Given the description of an element on the screen output the (x, y) to click on. 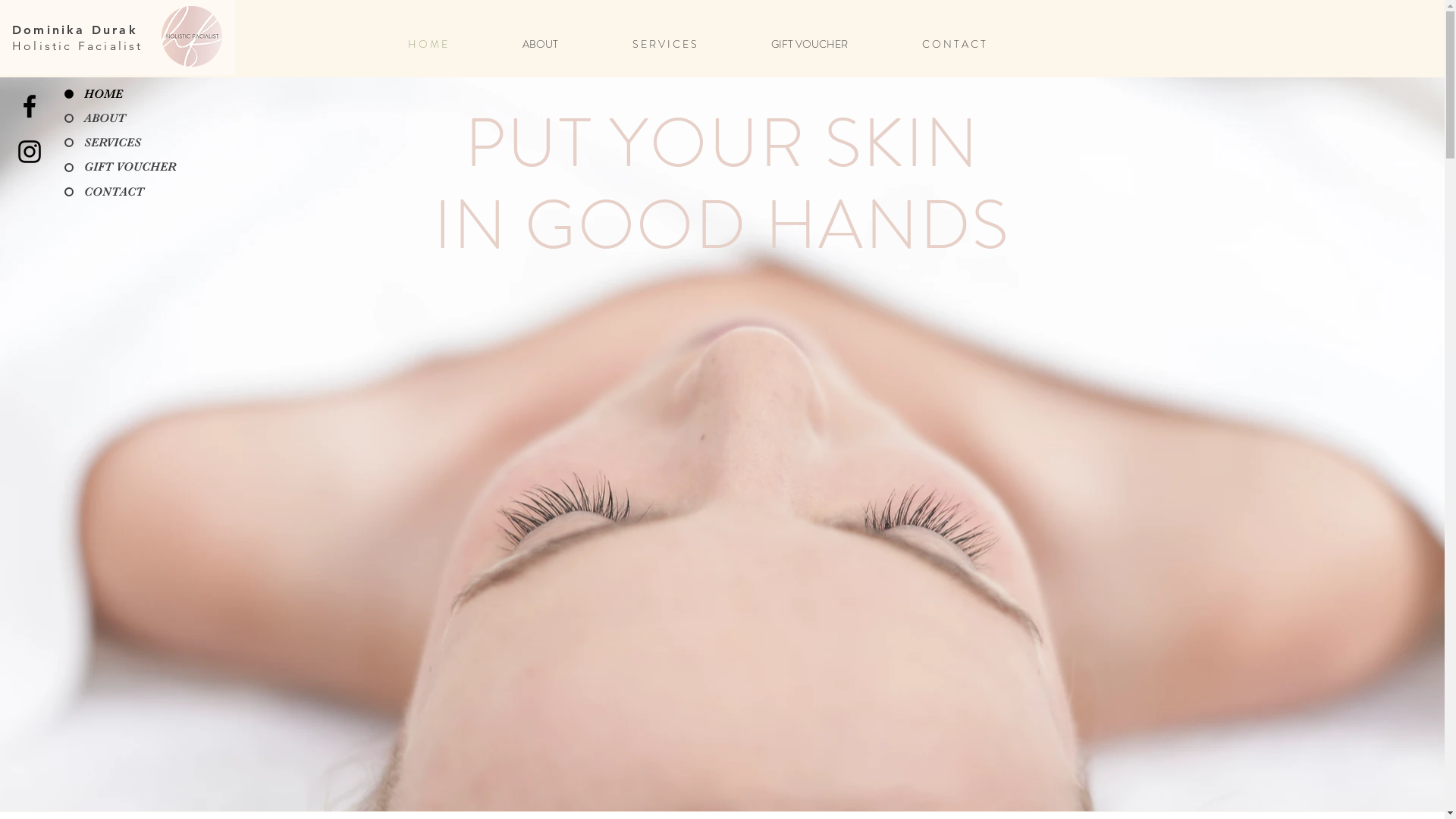
H O M E Element type: text (452, 44)
ABOUT Element type: text (566, 44)
GIFT VOUCHER Element type: text (129, 117)
C O N T A C T Element type: text (979, 44)
GIFT VOUCHER Element type: text (834, 44)
CONTACT Element type: text (129, 142)
Holistic Facialist Element type: text (77, 45)
S E R V I C E S Element type: text (689, 44)
HOME Element type: text (129, 93)
Dominika Durak Element type: text (75, 29)
ABOUT Element type: text (129, 166)
SERVICES Element type: text (129, 191)
